Given the description of an element on the screen output the (x, y) to click on. 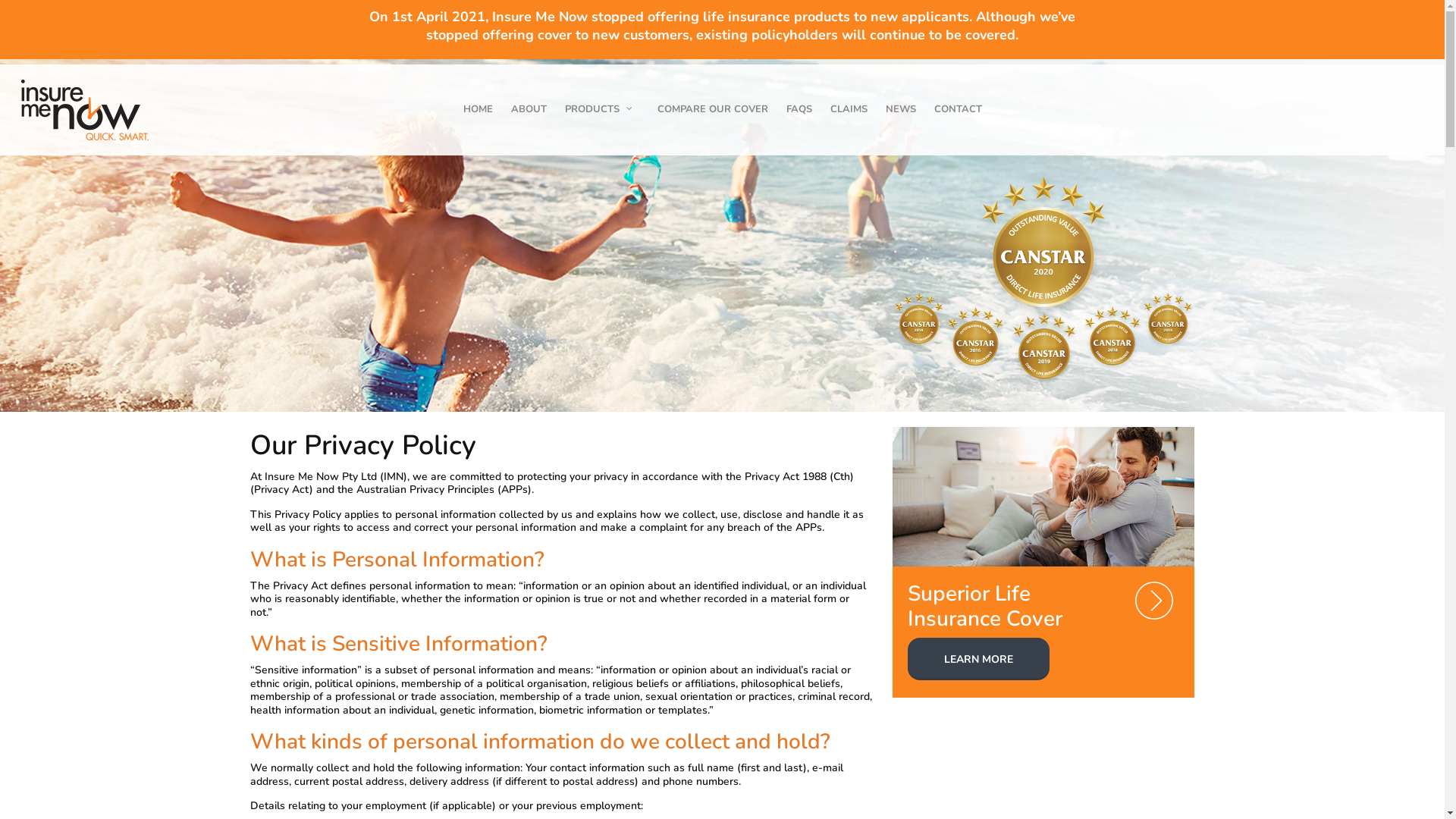
PRODUCTS Element type: text (601, 117)
LEARN MORE Element type: text (978, 658)
NEWS Element type: text (900, 116)
COMPARE OUR COVER Element type: text (711, 116)
ABOUT Element type: text (528, 116)
CLAIMS Element type: text (847, 116)
FAQS Element type: text (798, 116)
CONTACT Element type: text (958, 116)
HOME Element type: text (477, 116)
